Given the description of an element on the screen output the (x, y) to click on. 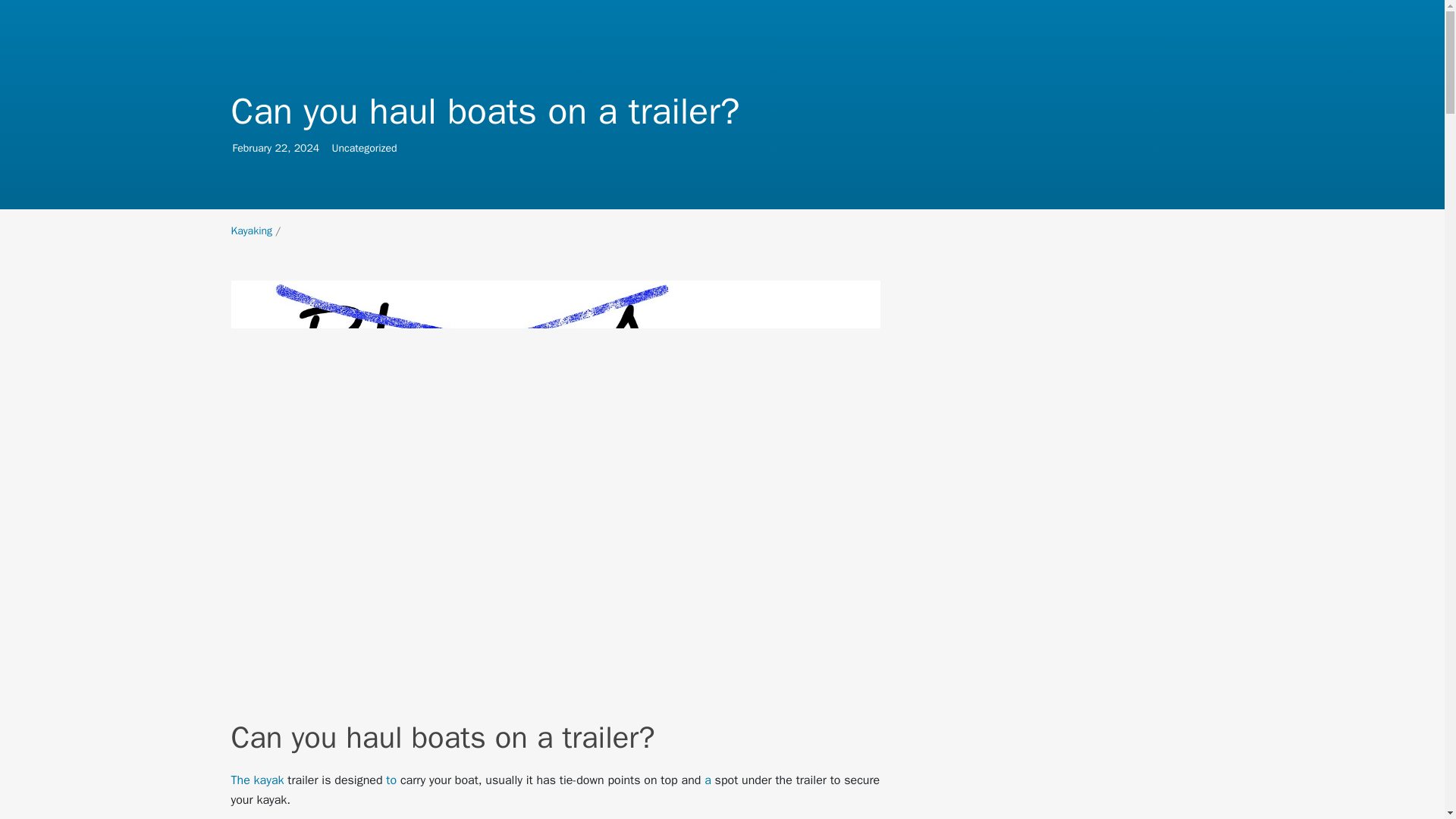
2024 (307, 147)
22 (280, 147)
The (239, 780)
kayak (268, 780)
February (251, 230)
